Given the description of an element on the screen output the (x, y) to click on. 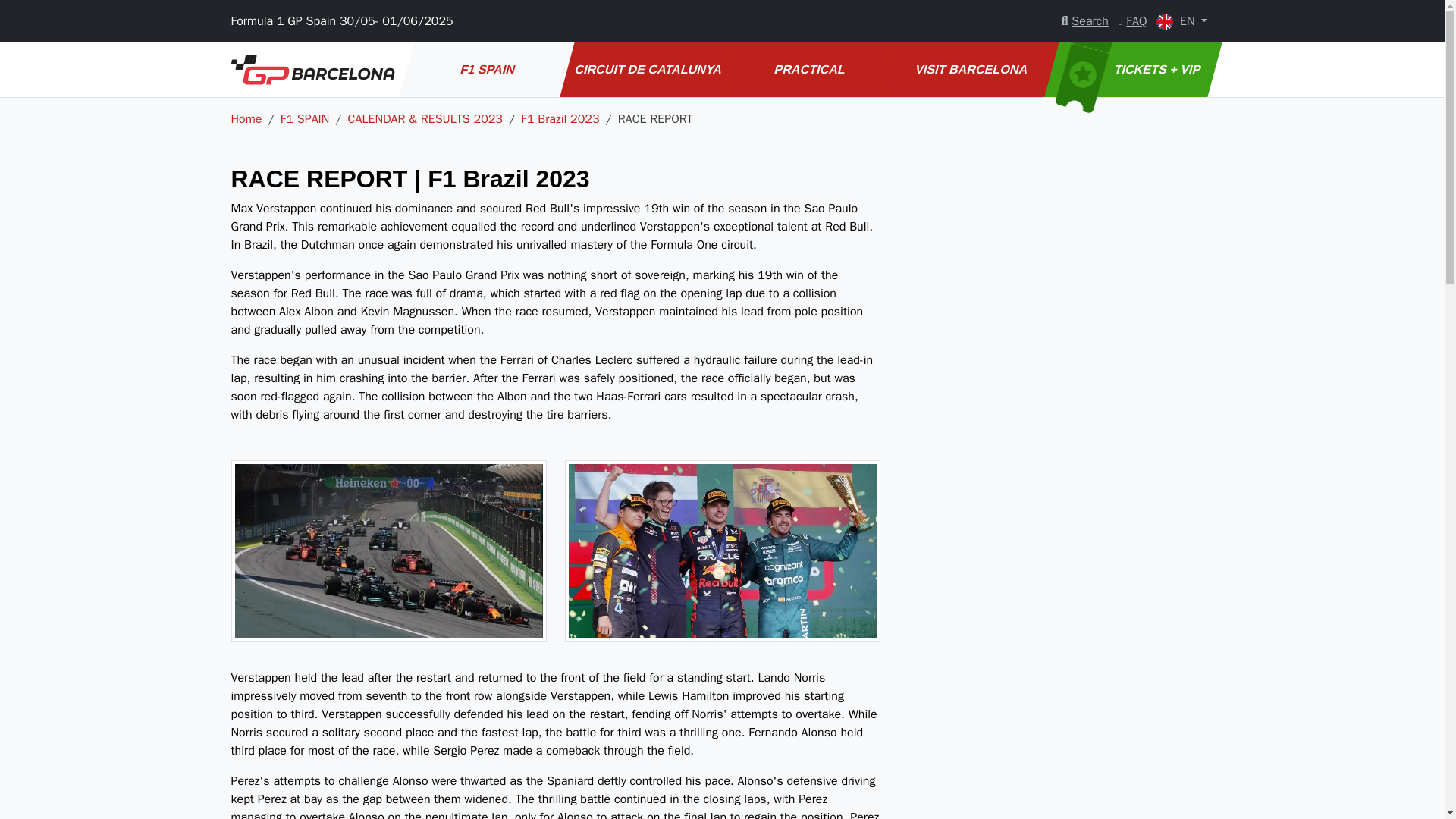
F1 Brazil 2023 (559, 118)
PRACTICAL (801, 69)
FAQ (1132, 20)
VISIT BARCELONA (962, 69)
EN (1181, 21)
CIRCUIT DE CATALUNYA (641, 69)
Search (1084, 20)
F1 SPAIN (479, 69)
Home (246, 118)
F1 SPAIN (305, 118)
